Given the description of an element on the screen output the (x, y) to click on. 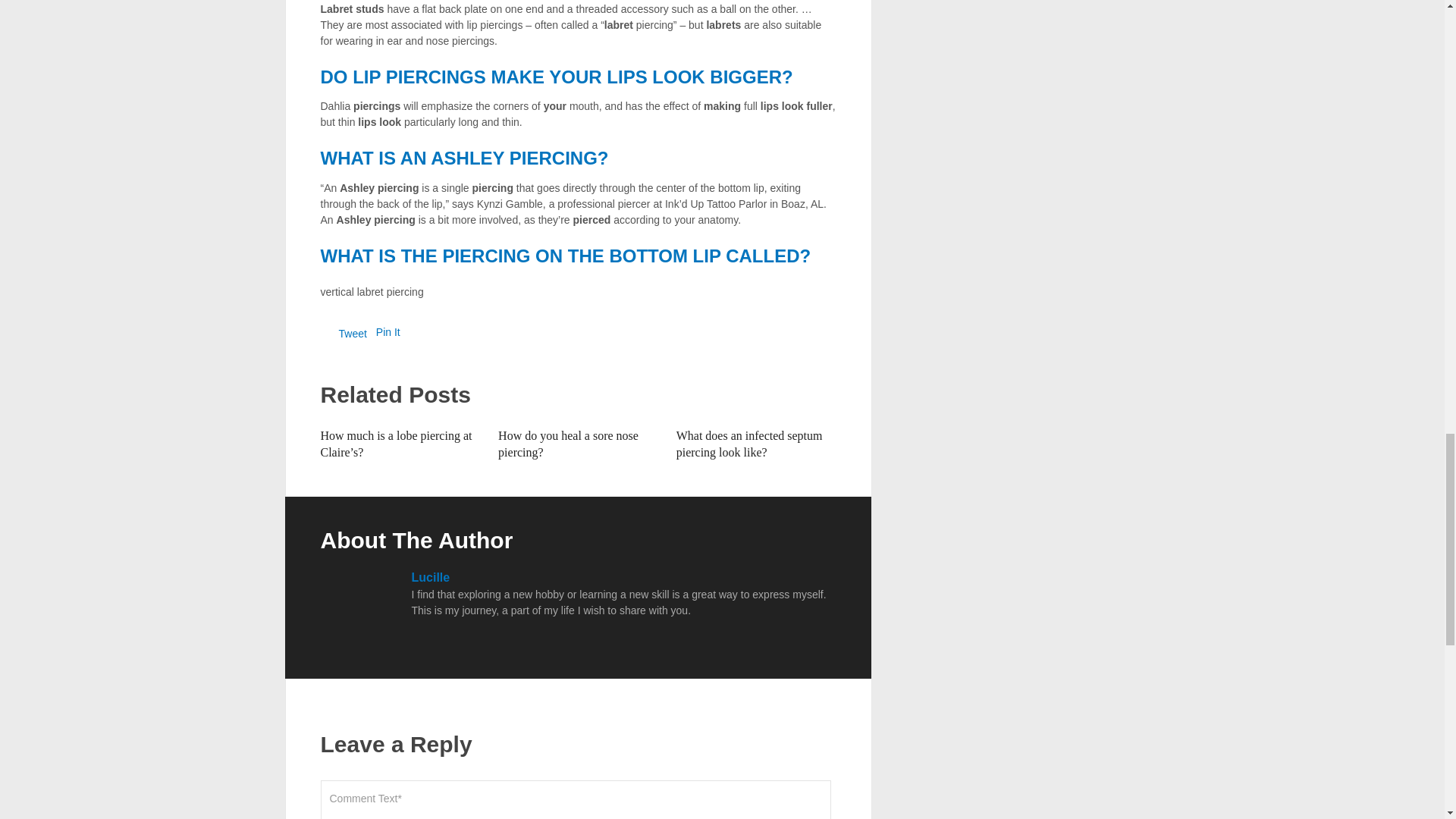
WHAT IS AN ASHLEY PIERCING? (464, 158)
Do lip piercings make your lips look bigger? (556, 76)
How do you heal a sore nose piercing? (568, 443)
Pin It (387, 331)
WHAT IS THE PIERCING ON THE BOTTOM LIP CALLED? (565, 255)
Tweet (351, 333)
What does an infected septum piercing look like? (749, 443)
How do you heal a sore nose piercing? (568, 443)
What does an infected septum piercing look like? (749, 443)
Lucille (429, 576)
DO LIP PIERCINGS MAKE YOUR LIPS LOOK BIGGER? (556, 76)
What is an Ashley piercing? (464, 158)
What is the piercing on the bottom lip called? (565, 255)
